Given the description of an element on the screen output the (x, y) to click on. 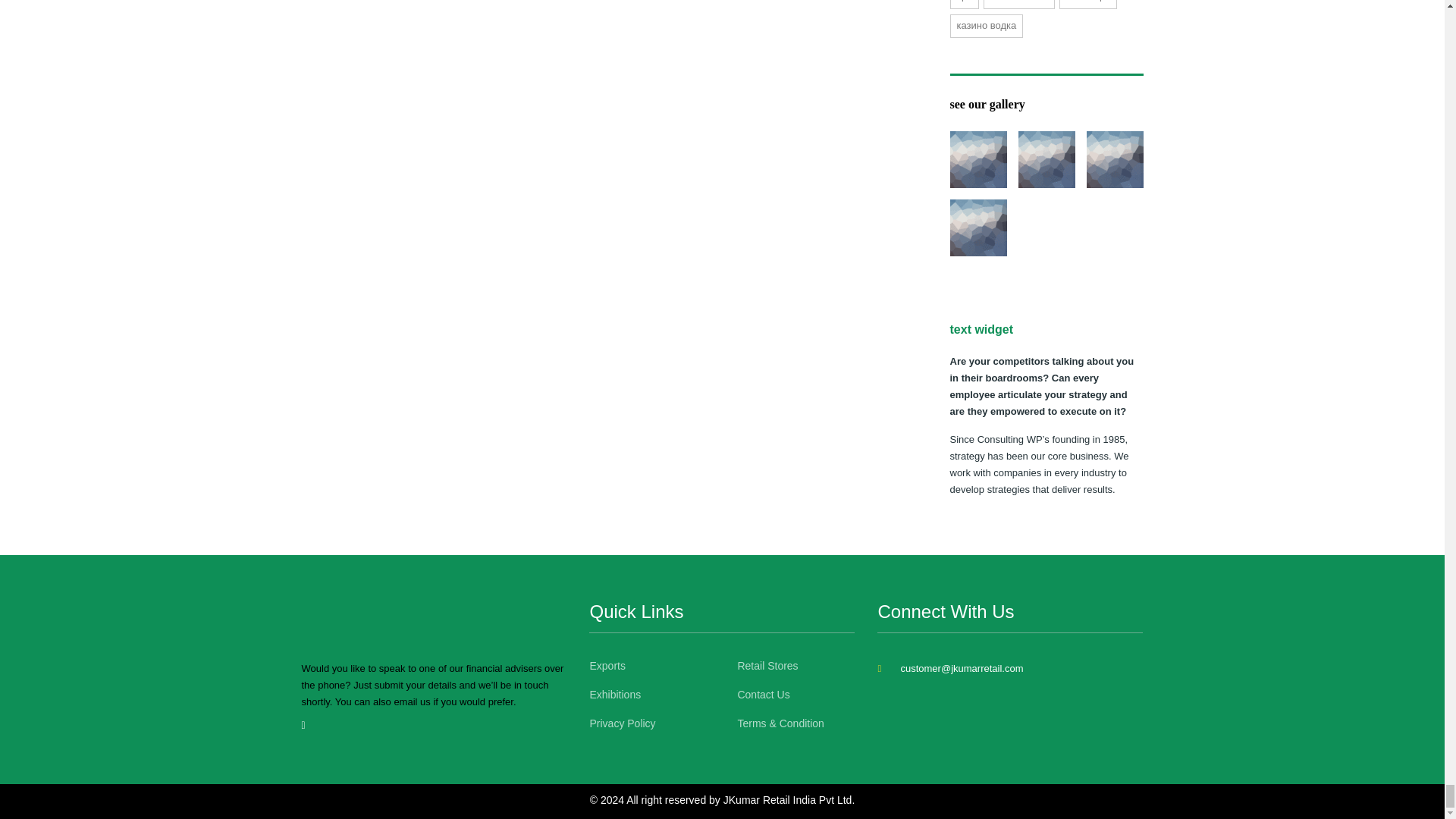
placeholder (977, 159)
placeholder (1045, 159)
placeholder (1114, 159)
placeholder (977, 227)
